Given the description of an element on the screen output the (x, y) to click on. 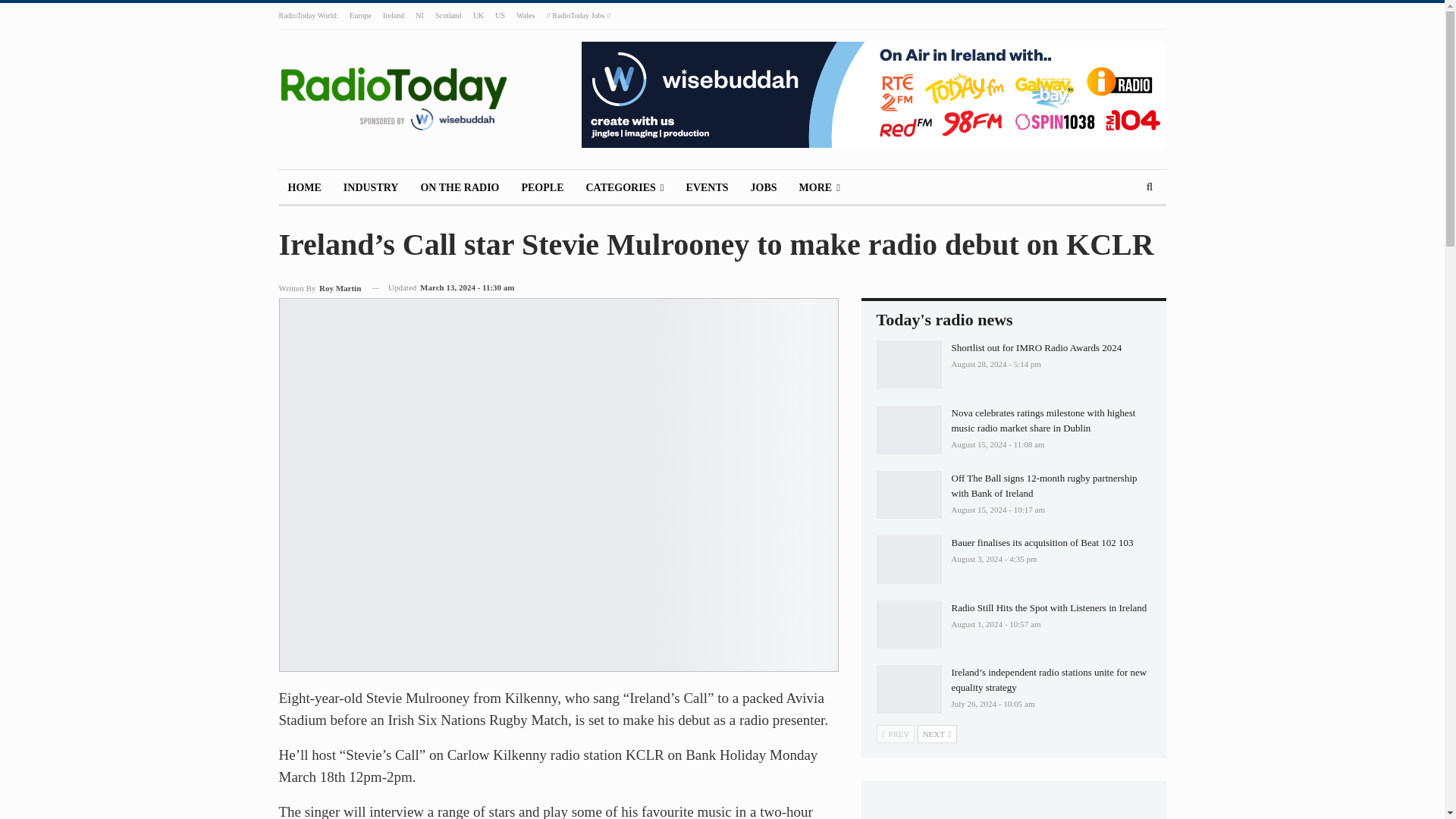
MORE (819, 187)
EVENTS (707, 187)
INDUSTRY (370, 187)
Written By Roy Martin (320, 287)
ON THE RADIO (459, 187)
UK (478, 15)
Wales (525, 15)
Ireland (393, 15)
RadioToday World: (309, 15)
Browse Author Articles (320, 287)
